Given the description of an element on the screen output the (x, y) to click on. 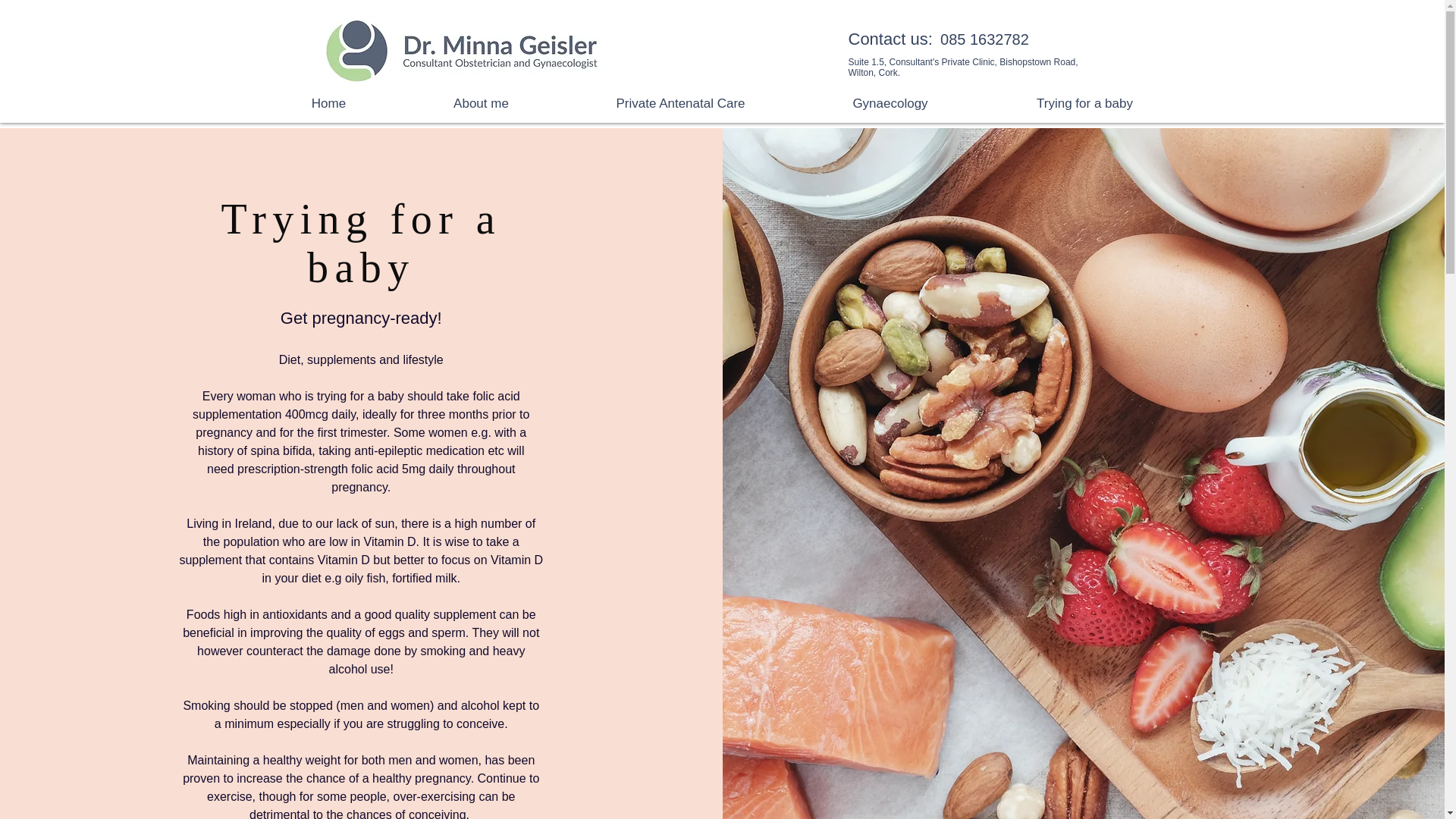
 085 1632782 (981, 39)
About me (480, 103)
Home (327, 103)
